Given the description of an element on the screen output the (x, y) to click on. 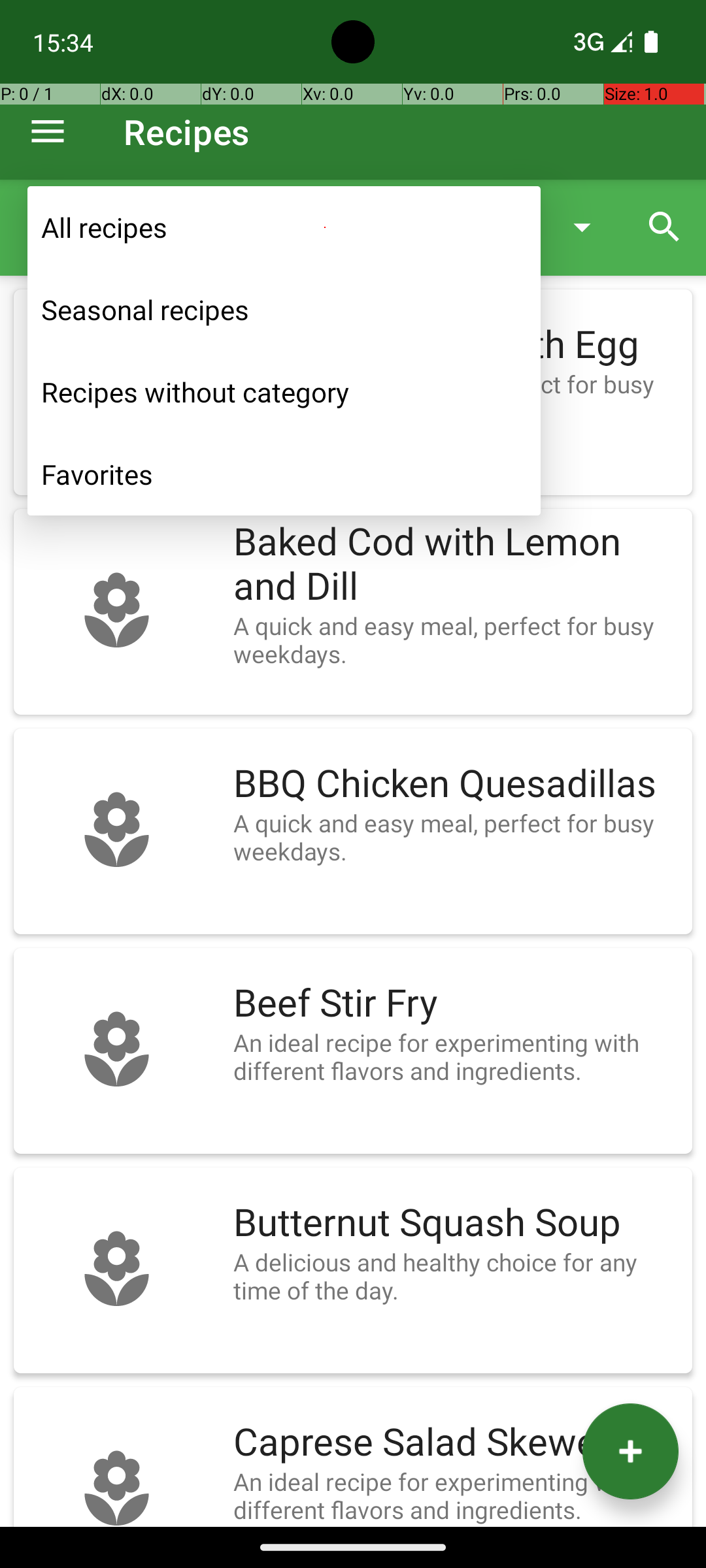
Seasonal recipes Element type: android.widget.CheckedTextView (283, 309)
Recipes without category Element type: android.widget.CheckedTextView (283, 391)
